Given the description of an element on the screen output the (x, y) to click on. 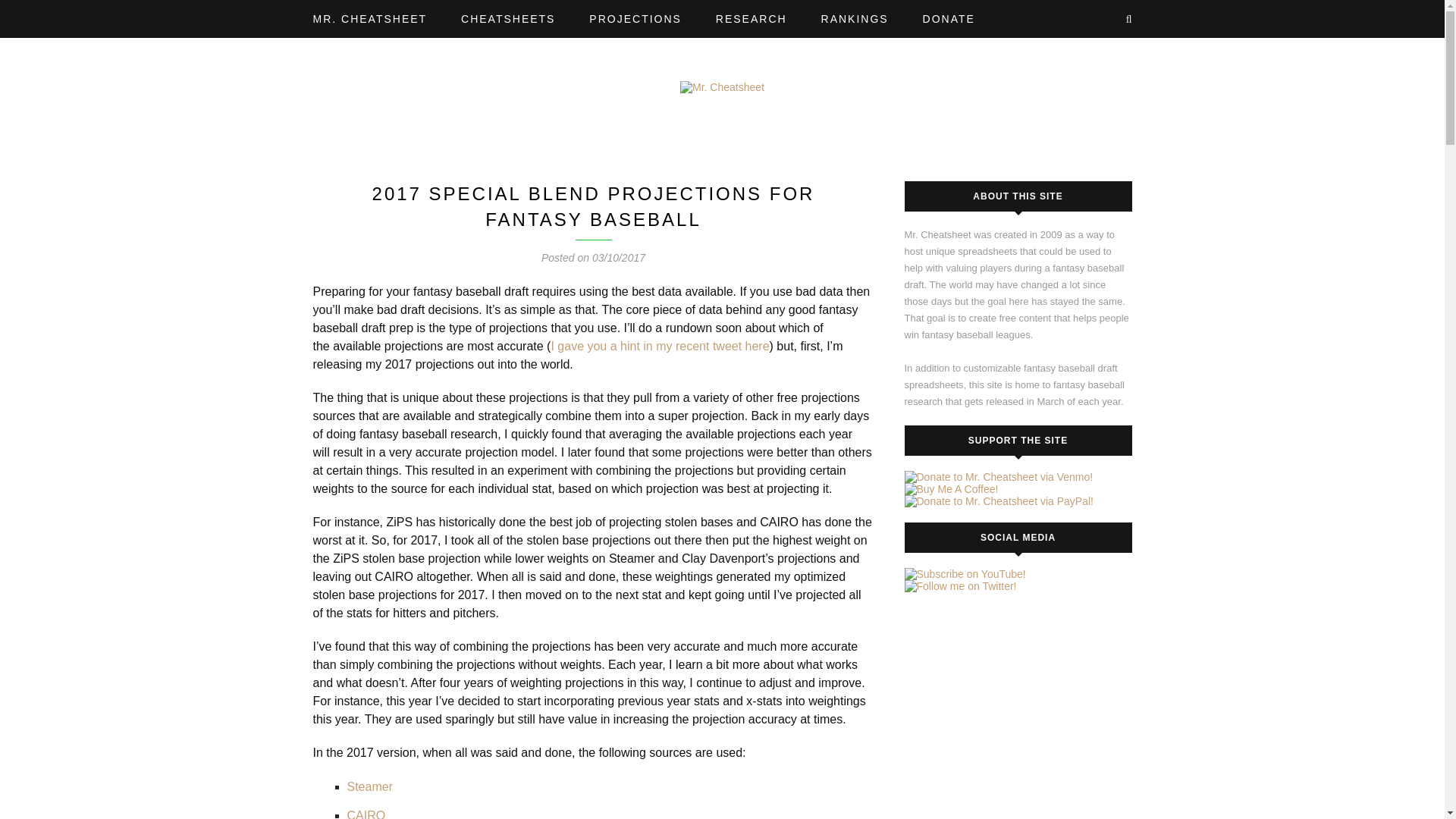
I gave you a hint in my recent tweet here (659, 345)
PROJECTIONS (638, 19)
Steamer (370, 786)
MR. CHEATSHEET (373, 19)
CHEATSHEETS (511, 19)
RANKINGS (858, 19)
RESEARCH (755, 19)
CAIRO (366, 814)
DONATE (952, 19)
